Given the description of an element on the screen output the (x, y) to click on. 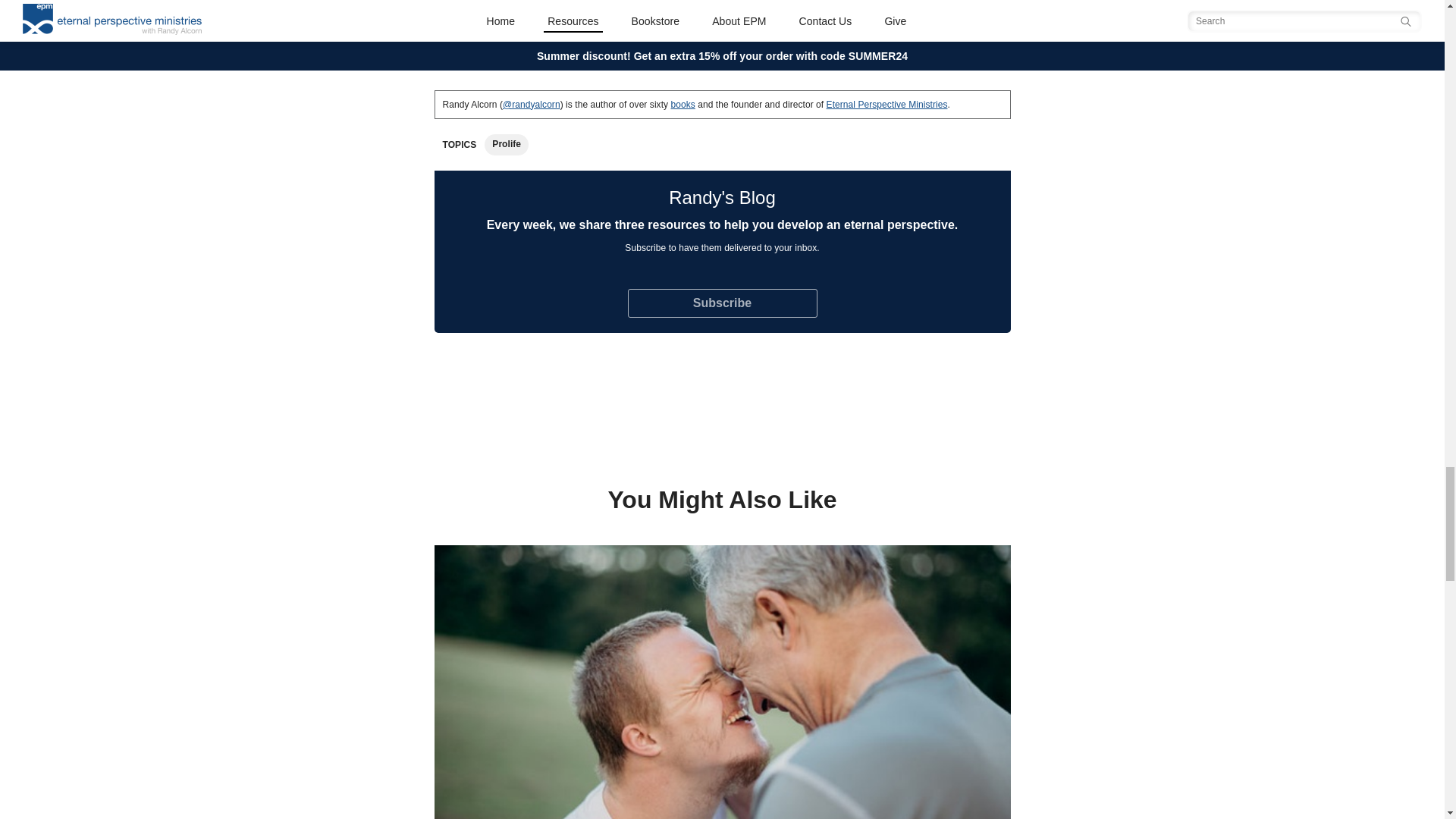
Subscribe (721, 303)
Eternal Perspective Ministries (887, 104)
Prolife (506, 143)
books (683, 104)
